Given the description of an element on the screen output the (x, y) to click on. 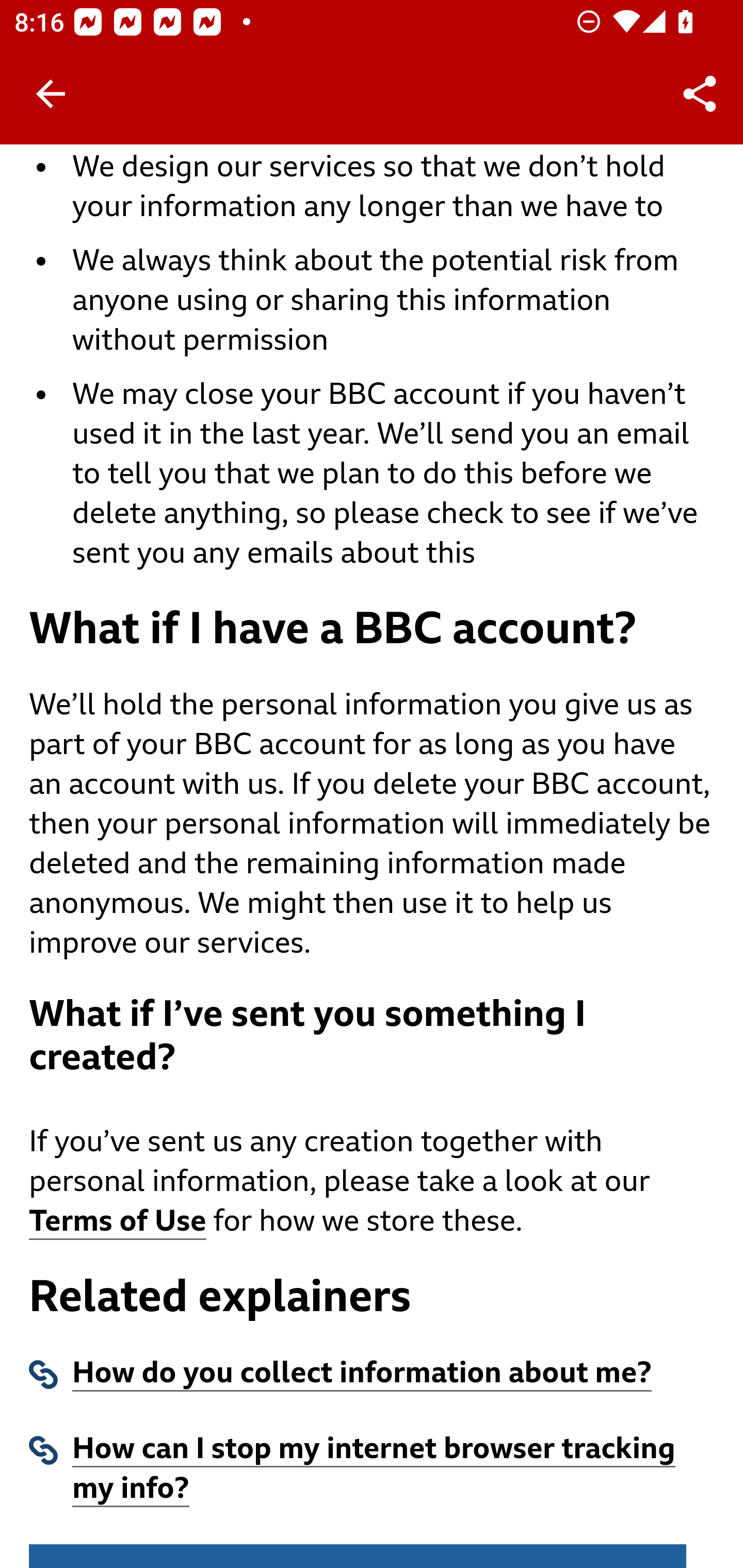
Back (50, 93)
Share (699, 93)
Terms of Use (117, 1223)
How do you collect information about me? (362, 1375)
